Given the description of an element on the screen output the (x, y) to click on. 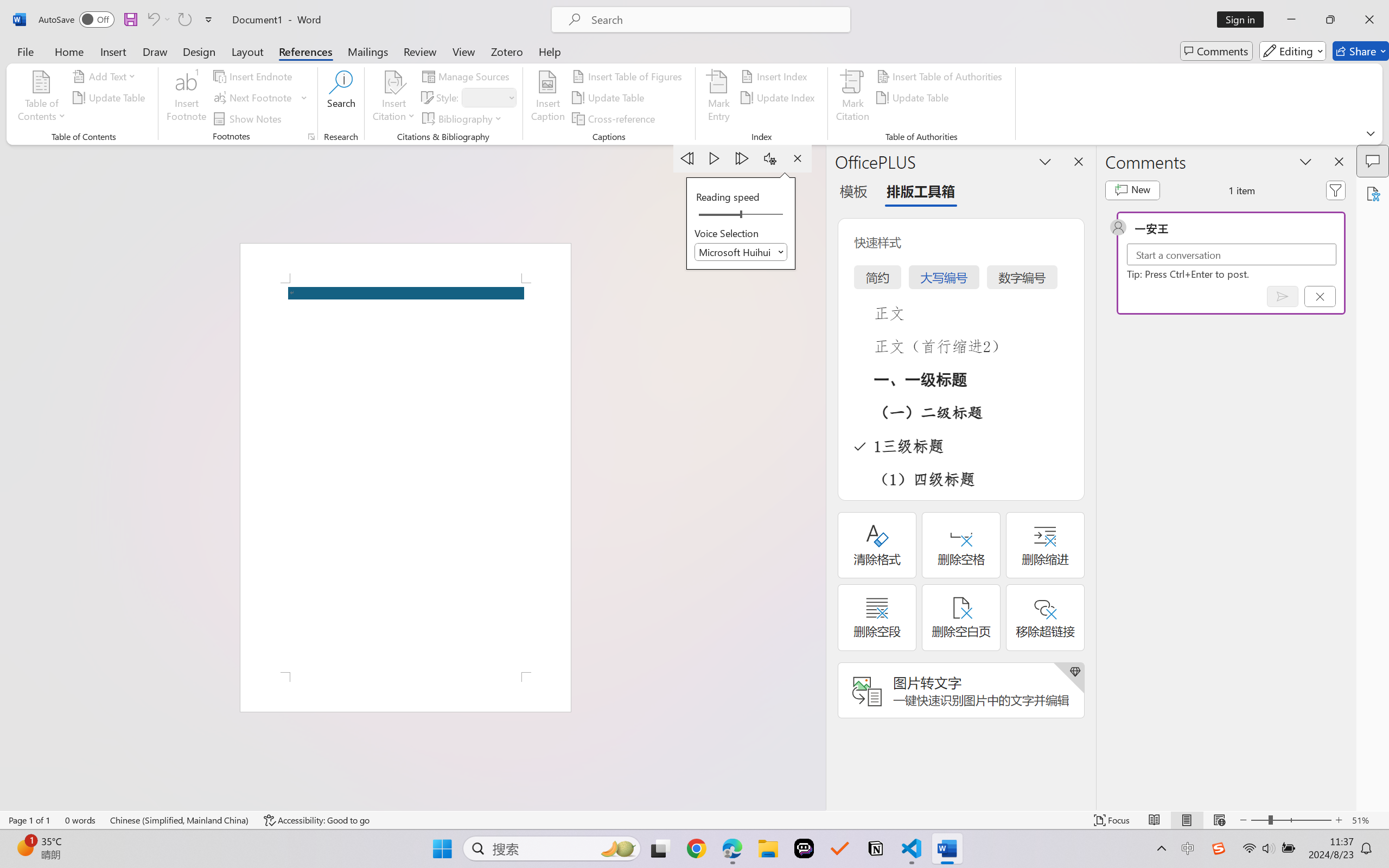
Search (341, 97)
Undo Apply Quick Style Set (152, 19)
Style (488, 97)
Mark Entry... (718, 97)
Settings (770, 158)
Filter (1335, 190)
